Given the description of an element on the screen output the (x, y) to click on. 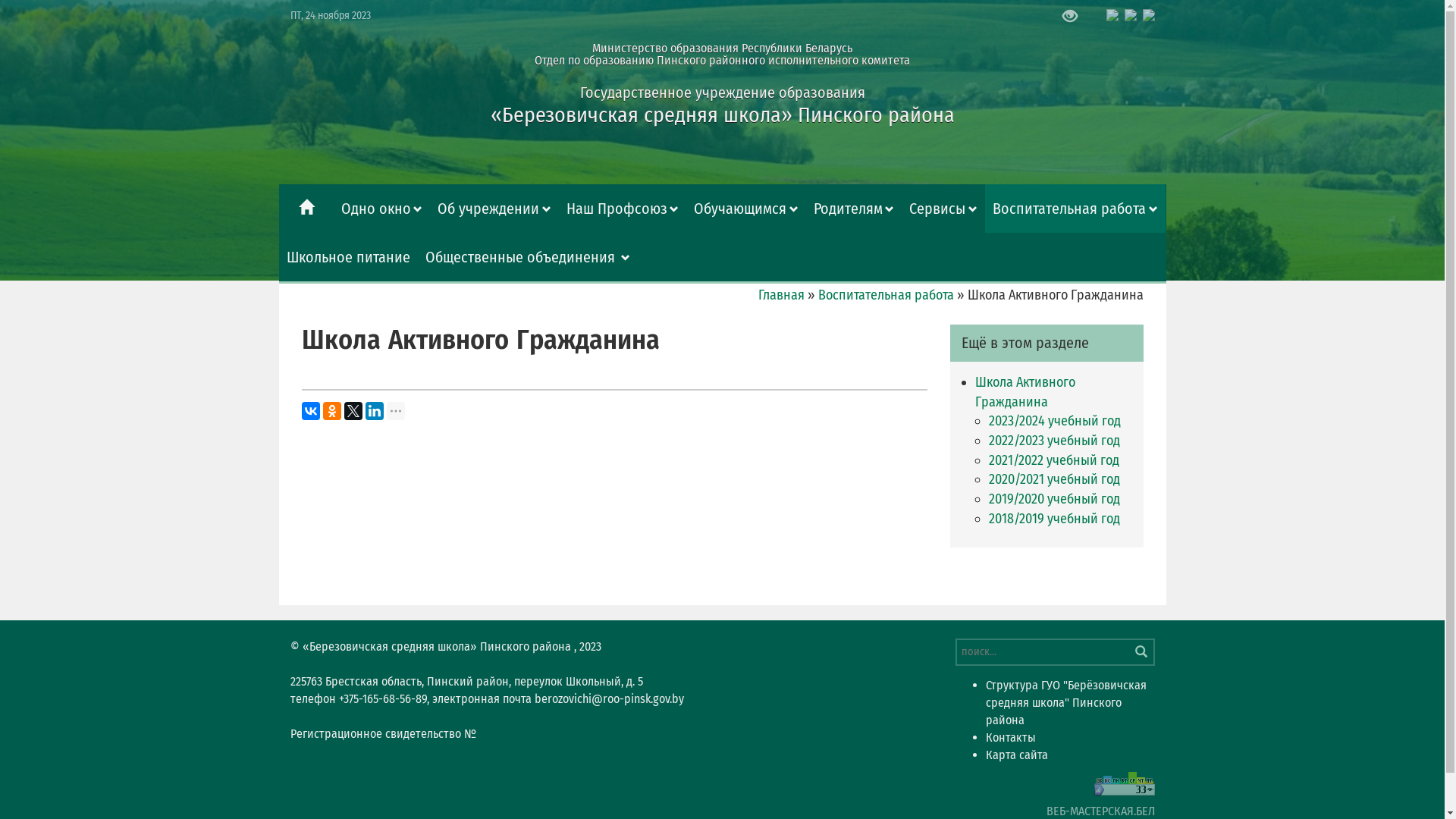
LinkedIn Element type: hover (374, 410)
Twitter Element type: hover (353, 410)
